Given the description of an element on the screen output the (x, y) to click on. 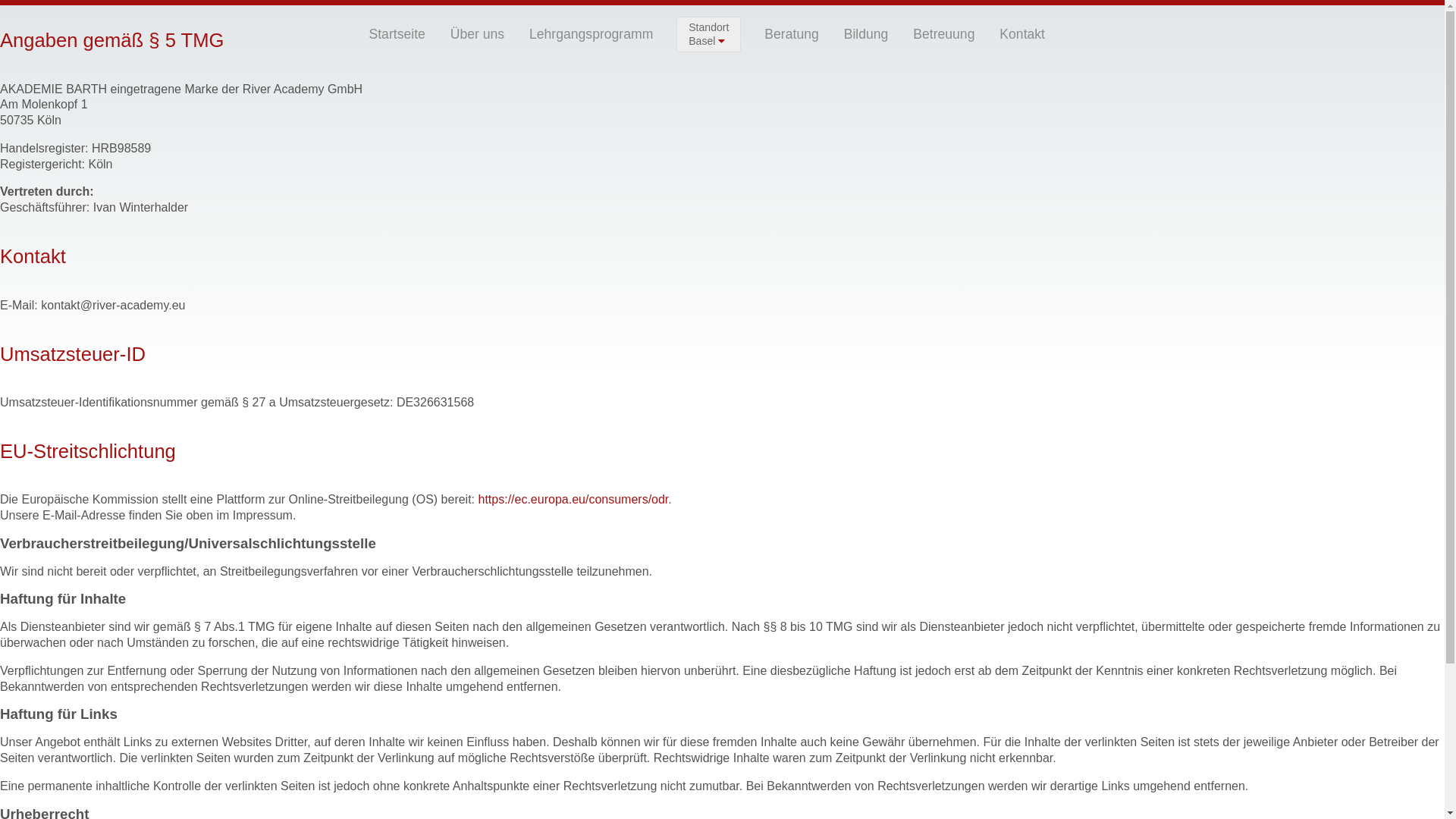
Betreuung Element type: text (943, 34)
Lehrgangsprogramm Element type: text (590, 34)
Kontakt Element type: text (1021, 34)
Startseite Element type: text (396, 34)
Bildung Element type: text (866, 34)
Beratung Element type: text (790, 34)
https://ec.europa.eu/consumers/odr Element type: text (572, 498)
